Given the description of an element on the screen output the (x, y) to click on. 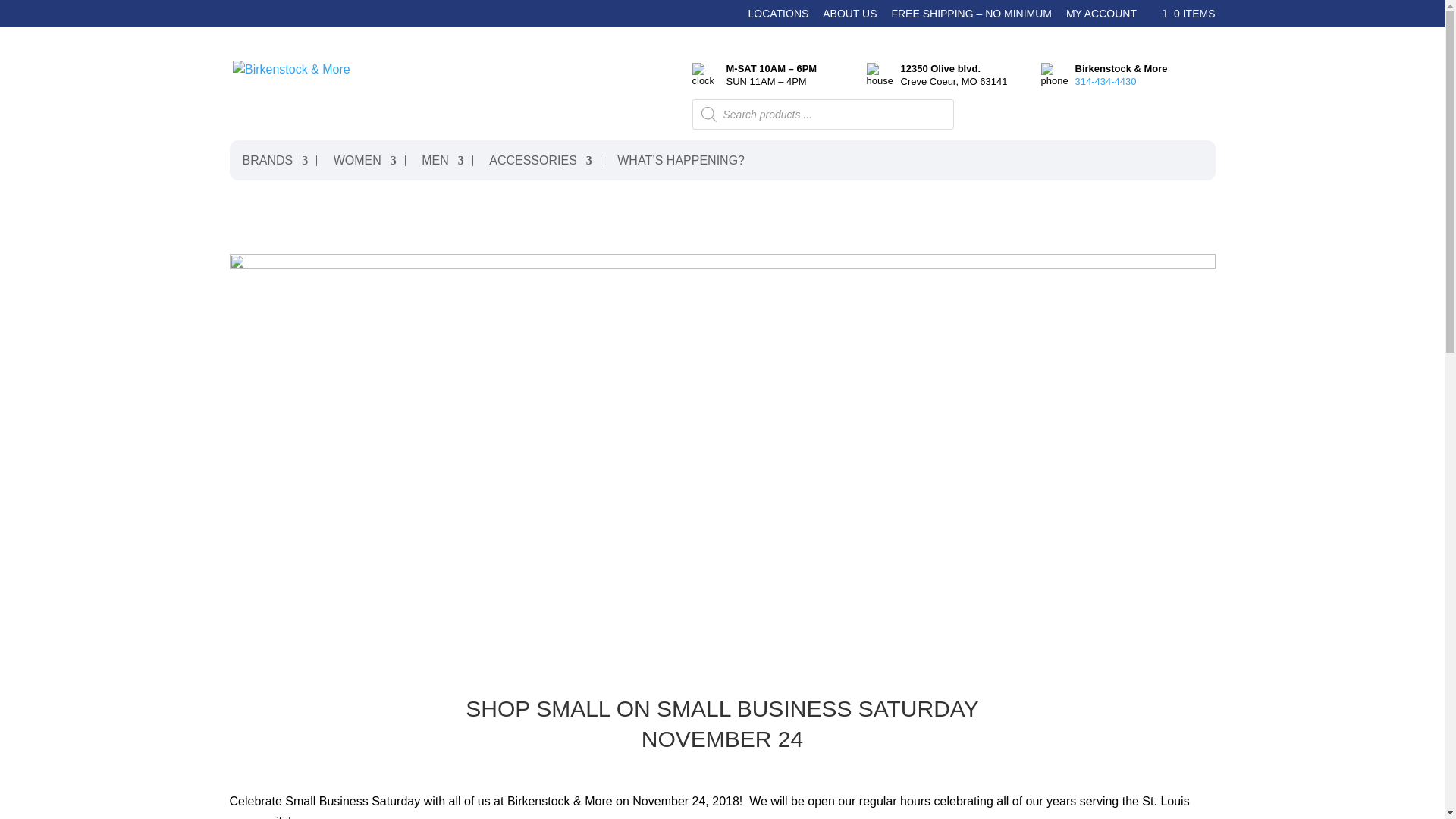
BRANDS (273, 160)
0 ITEMS (1186, 13)
ABOUT US (849, 16)
MEN (440, 160)
LOCATIONS (778, 16)
MY ACCOUNT (1101, 16)
314-434-4430 (1106, 81)
WOMEN (362, 160)
